Given the description of an element on the screen output the (x, y) to click on. 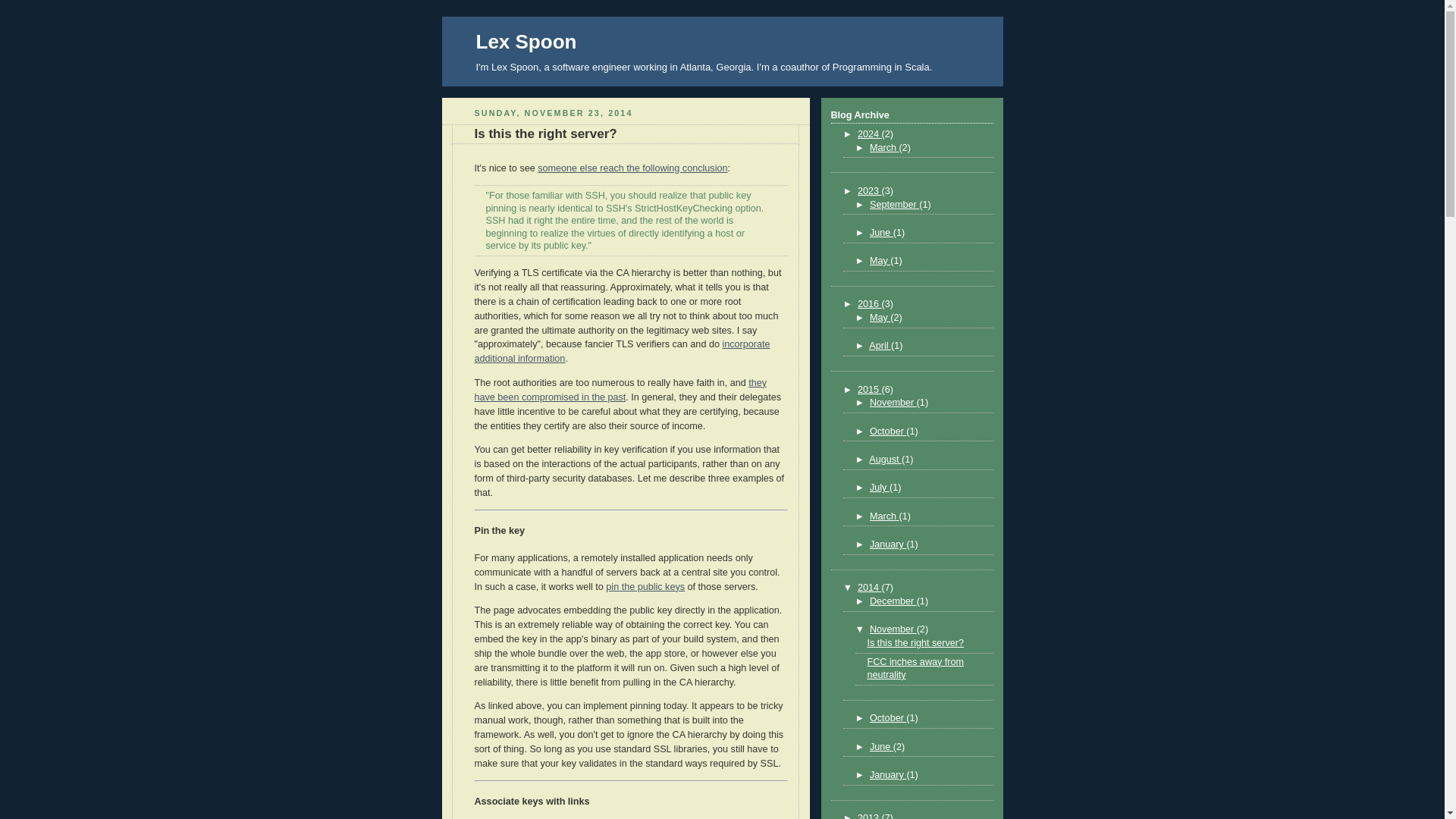
2023 (869, 190)
Lex Spoon (526, 41)
September (893, 204)
someone else reach the following conclusion (631, 167)
incorporate additional information (622, 351)
Programming in Scala (881, 66)
Is this the right server? (545, 133)
pin the public keys (644, 586)
they have been compromised in the past (620, 389)
June (881, 232)
March (884, 147)
2024 (869, 133)
